Given the description of an element on the screen output the (x, y) to click on. 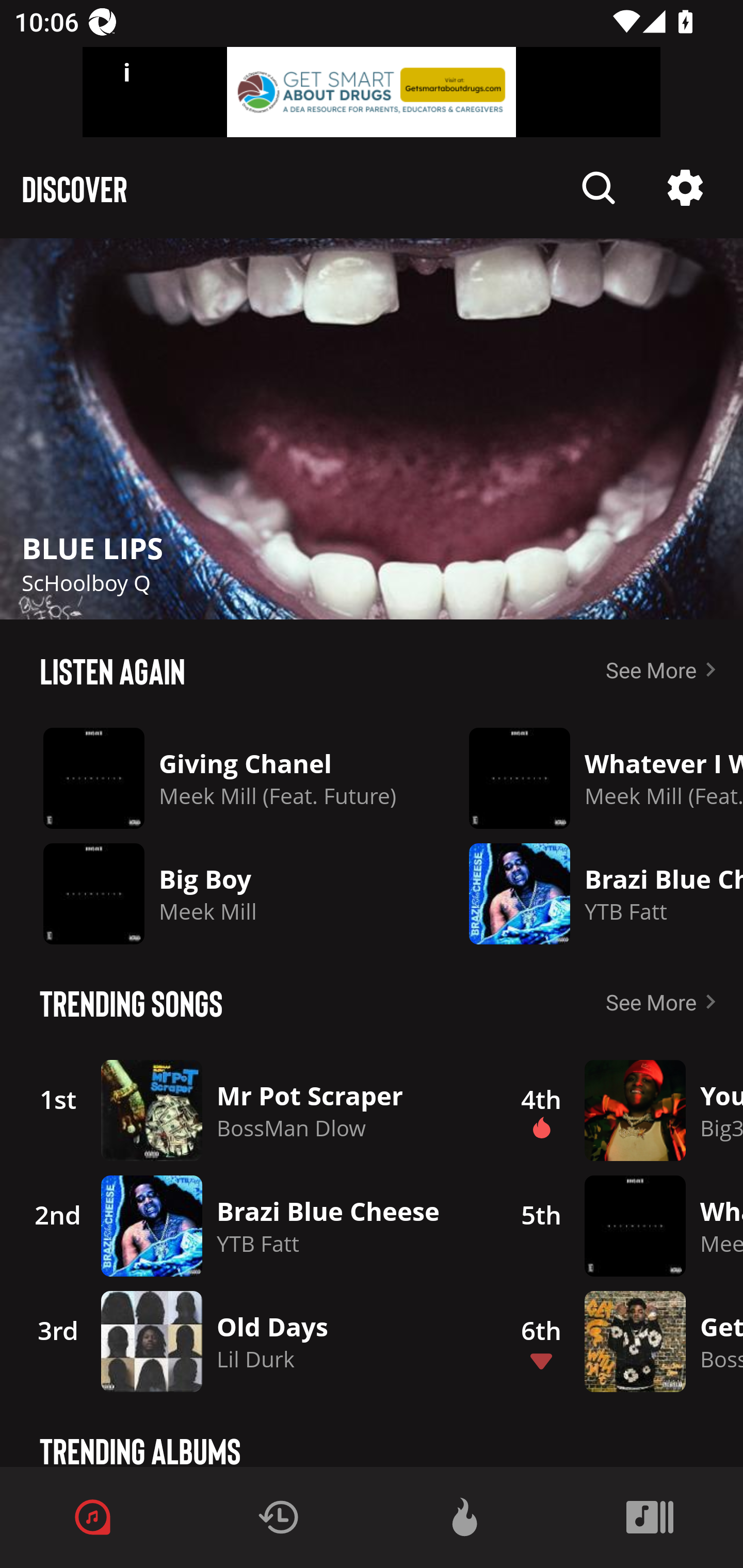
Description (598, 188)
Description (684, 188)
Description (371, 428)
See More (664, 669)
Description Giving Chanel Meek Mill (Feat. Future) (219, 778)
Description Big Boy Meek Mill (219, 893)
Description Brazi Blue Cheese YTB Fatt (591, 893)
See More (664, 1001)
1st Description Mr Pot Scraper BossMan Dlow (248, 1110)
4th Description Description You Thought Big30 (620, 1110)
2nd Description Brazi Blue Cheese YTB Fatt (248, 1226)
3rd Description Old Days Lil Durk (248, 1341)
